Given the description of an element on the screen output the (x, y) to click on. 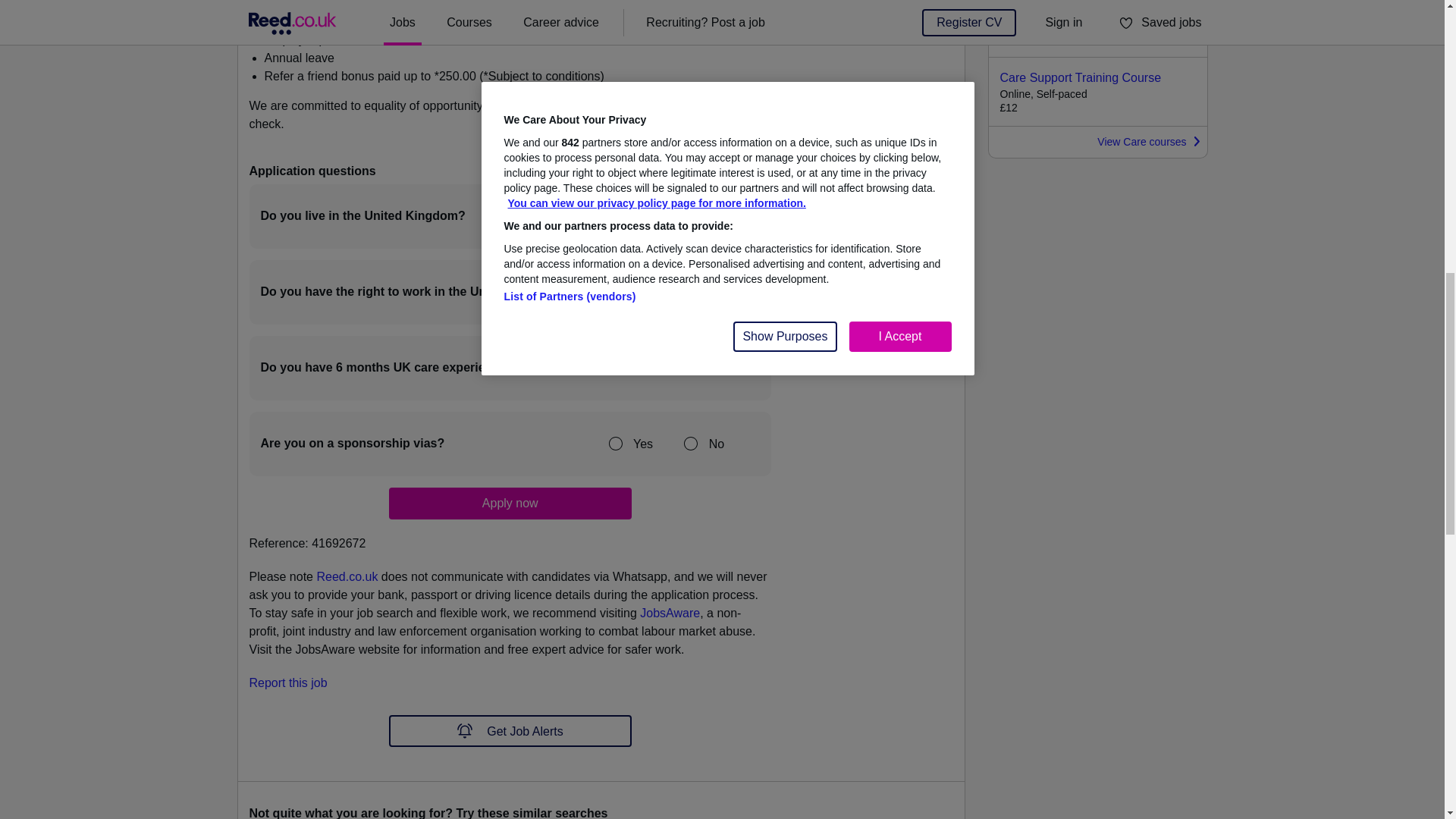
Report this job (287, 683)
